Given the description of an element on the screen output the (x, y) to click on. 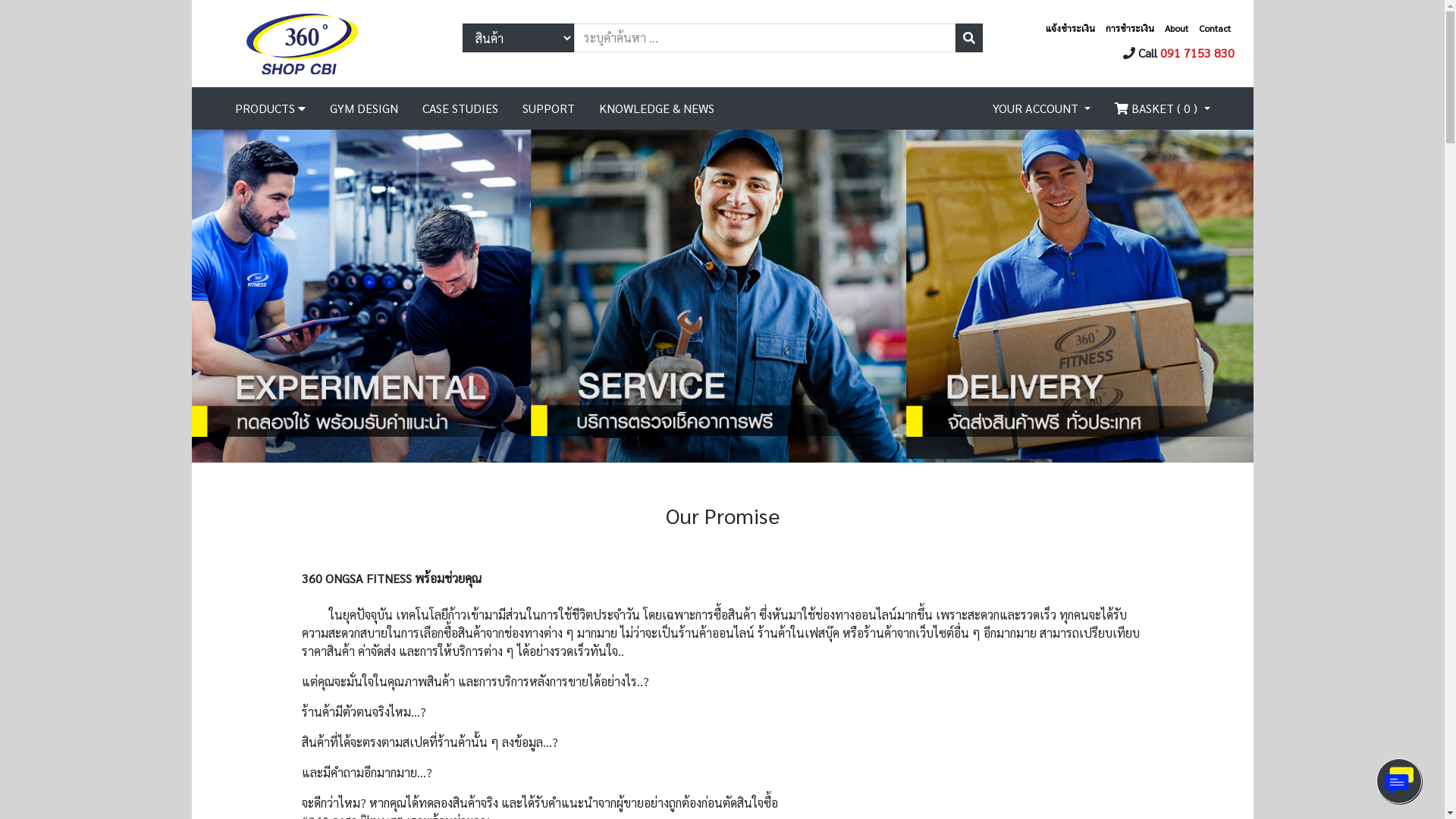
About Element type: text (1176, 27)
GYM DESIGN Element type: text (362, 108)
PRODUCTS Element type: text (269, 108)
SUPPORT Element type: text (547, 108)
Contact Element type: text (1214, 27)
YOUR ACCOUNT Element type: text (1041, 108)
091 7153 830 Element type: text (1197, 51)
KNOWLEDGE & NEWS Element type: text (656, 108)
BASKET ( 0 ) Element type: text (1161, 108)
CASE STUDIES Element type: text (459, 108)
